Given the description of an element on the screen output the (x, y) to click on. 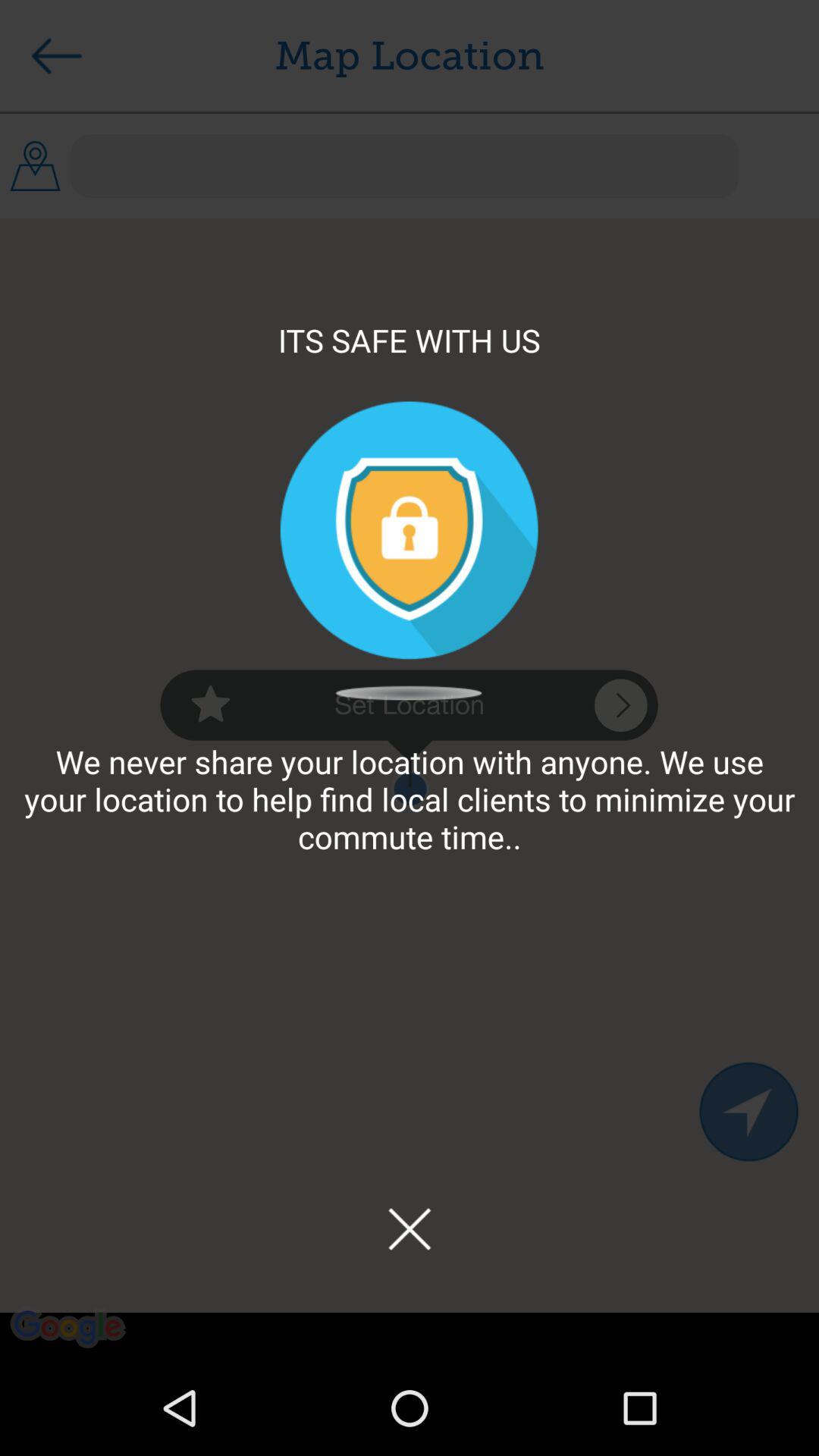
turn off the app below the we never share icon (409, 1228)
